Given the description of an element on the screen output the (x, y) to click on. 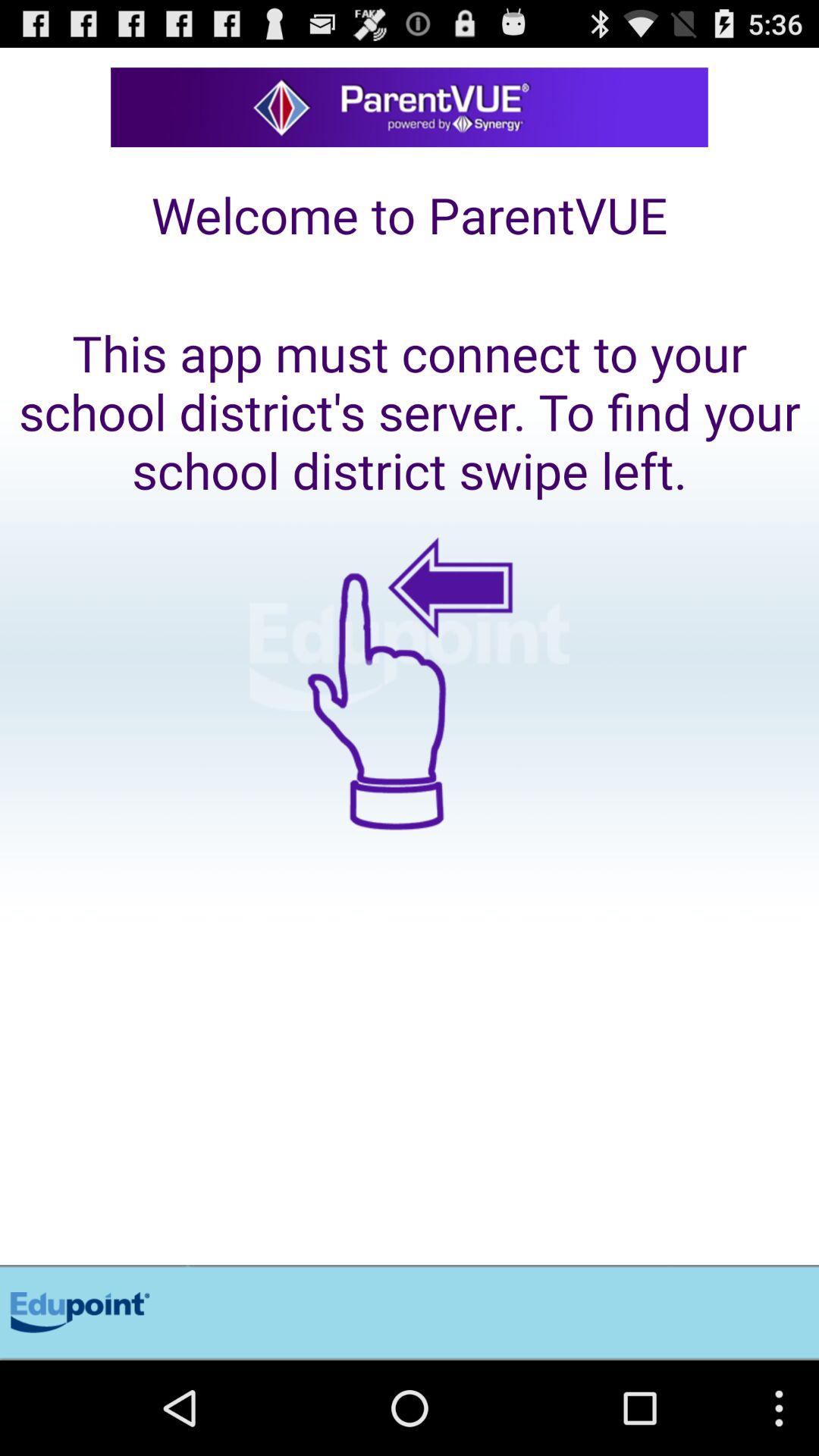
turn off the item below this app must item (409, 883)
